Given the description of an element on the screen output the (x, y) to click on. 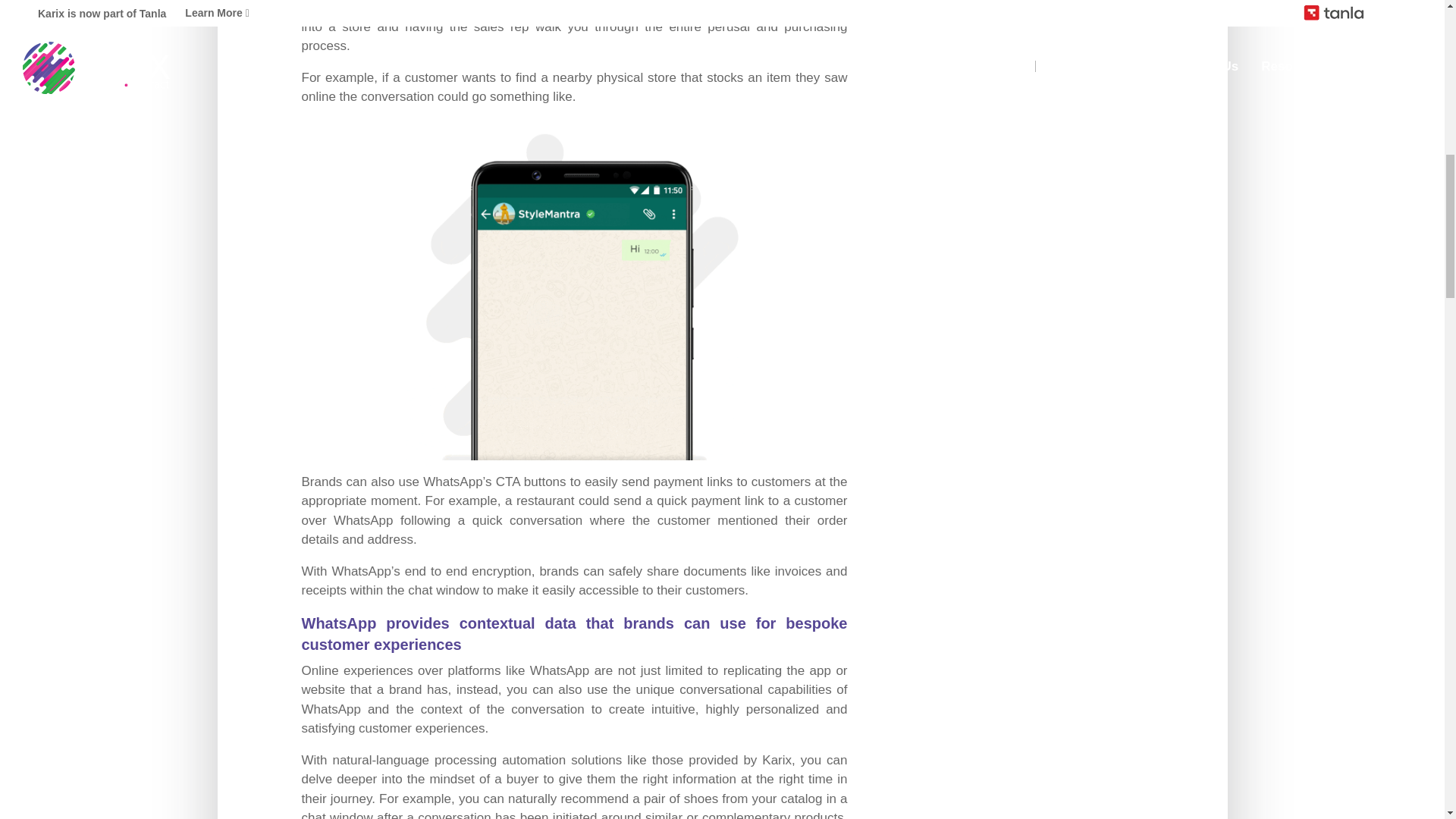
Blog 13 Gif 02 (573, 288)
